Given the description of an element on the screen output the (x, y) to click on. 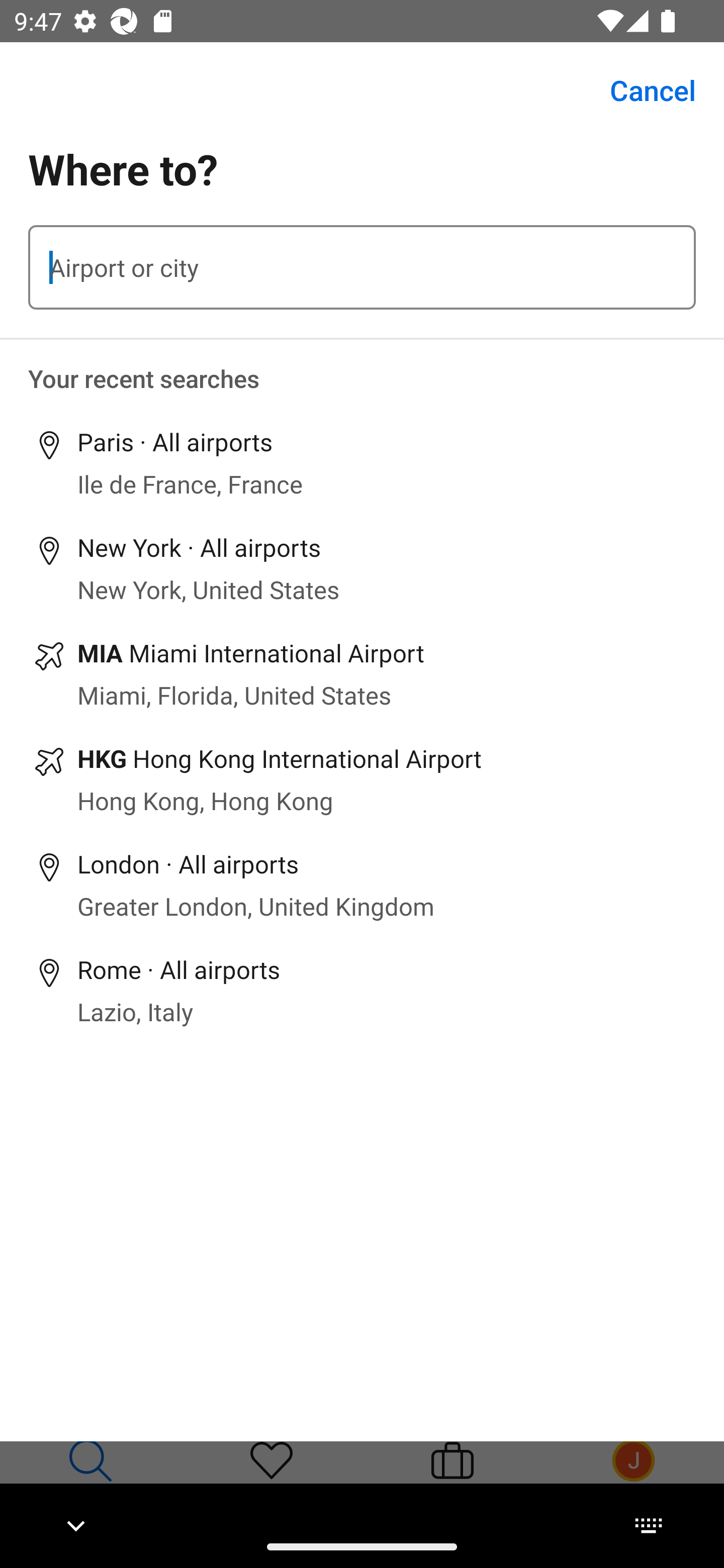
Cancel (641, 90)
Airport or city (361, 266)
Paris · All airports Ile de France, France (362, 462)
New York · All airports New York, United States (362, 567)
Rome · All airports Lazio, Italy (362, 989)
